Given the description of an element on the screen output the (x, y) to click on. 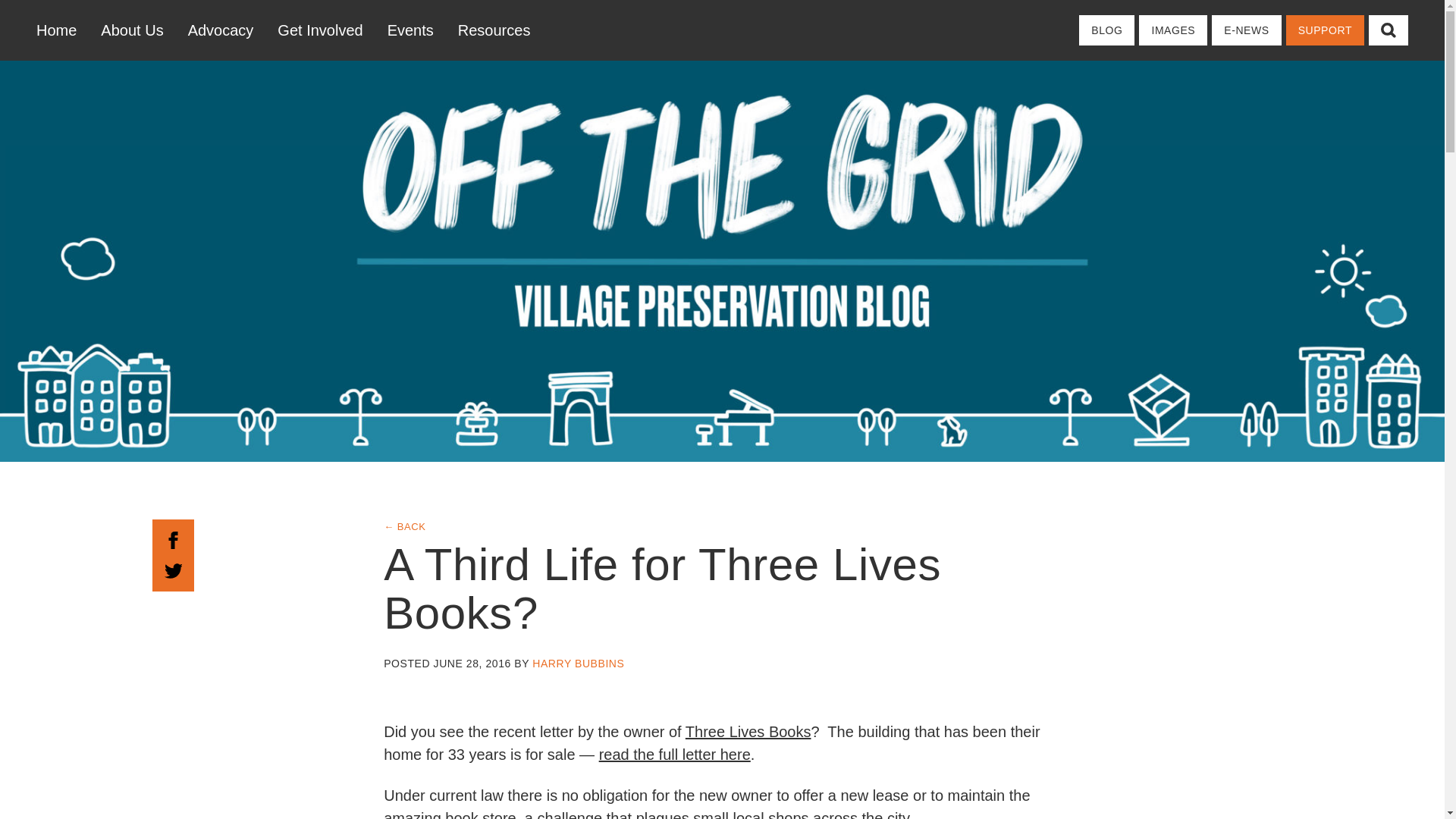
About Us (131, 30)
Share on Facebook (173, 538)
Get Involved (319, 30)
Share on Twitter (173, 568)
Advocacy (221, 30)
Events (410, 30)
Home (62, 30)
